Given the description of an element on the screen output the (x, y) to click on. 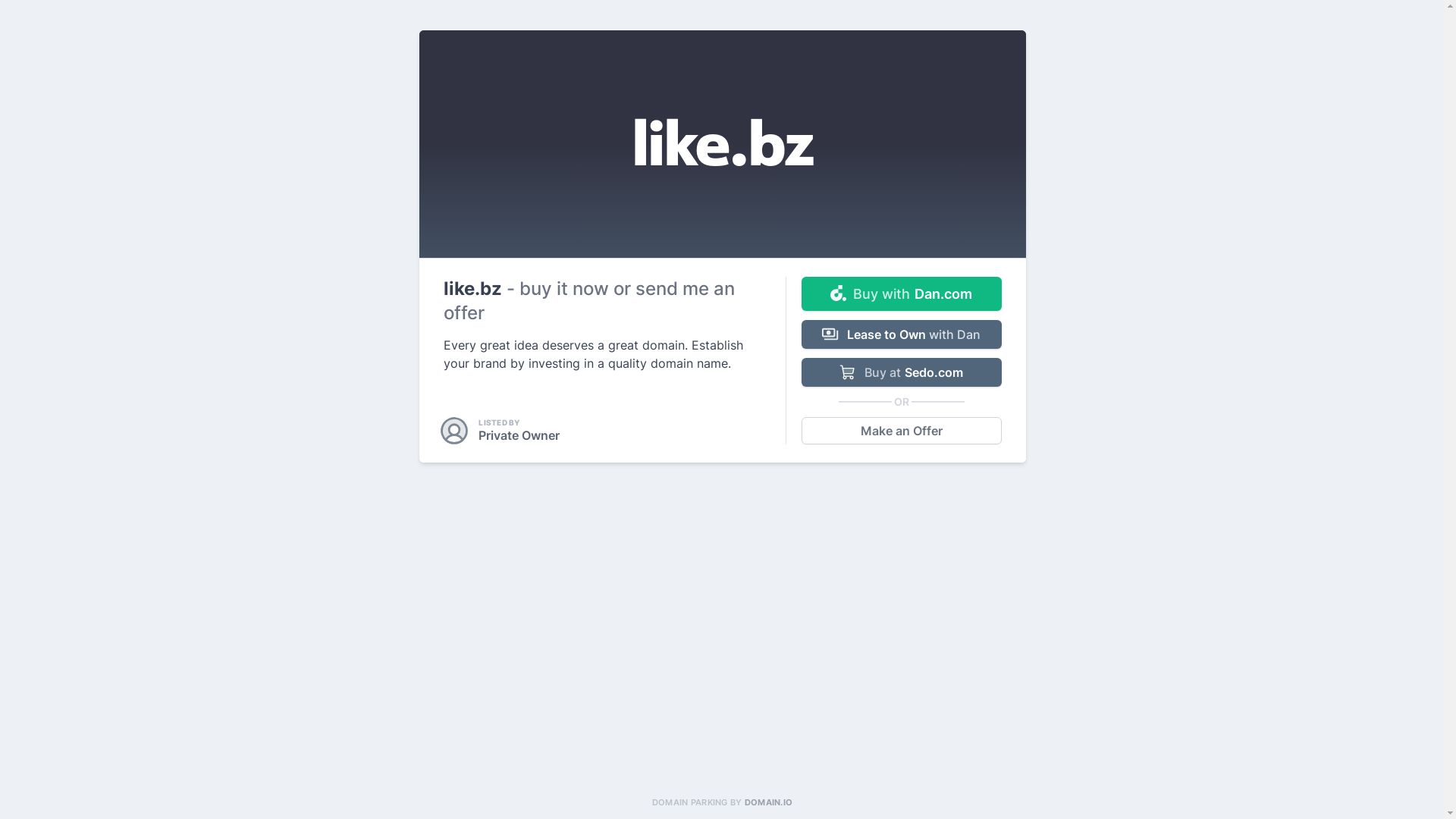
Make an Offer Element type: text (900, 430)
DOMAIN PARKING BY DOMAIN.IO Element type: text (722, 802)
Buy with Dan.com Element type: text (900, 293)
Lease to Own with Dan Element type: text (900, 334)
LISTED BY
Private Owner Element type: text (500, 430)
Buy at Sedo.com Element type: text (900, 371)
